Given the description of an element on the screen output the (x, y) to click on. 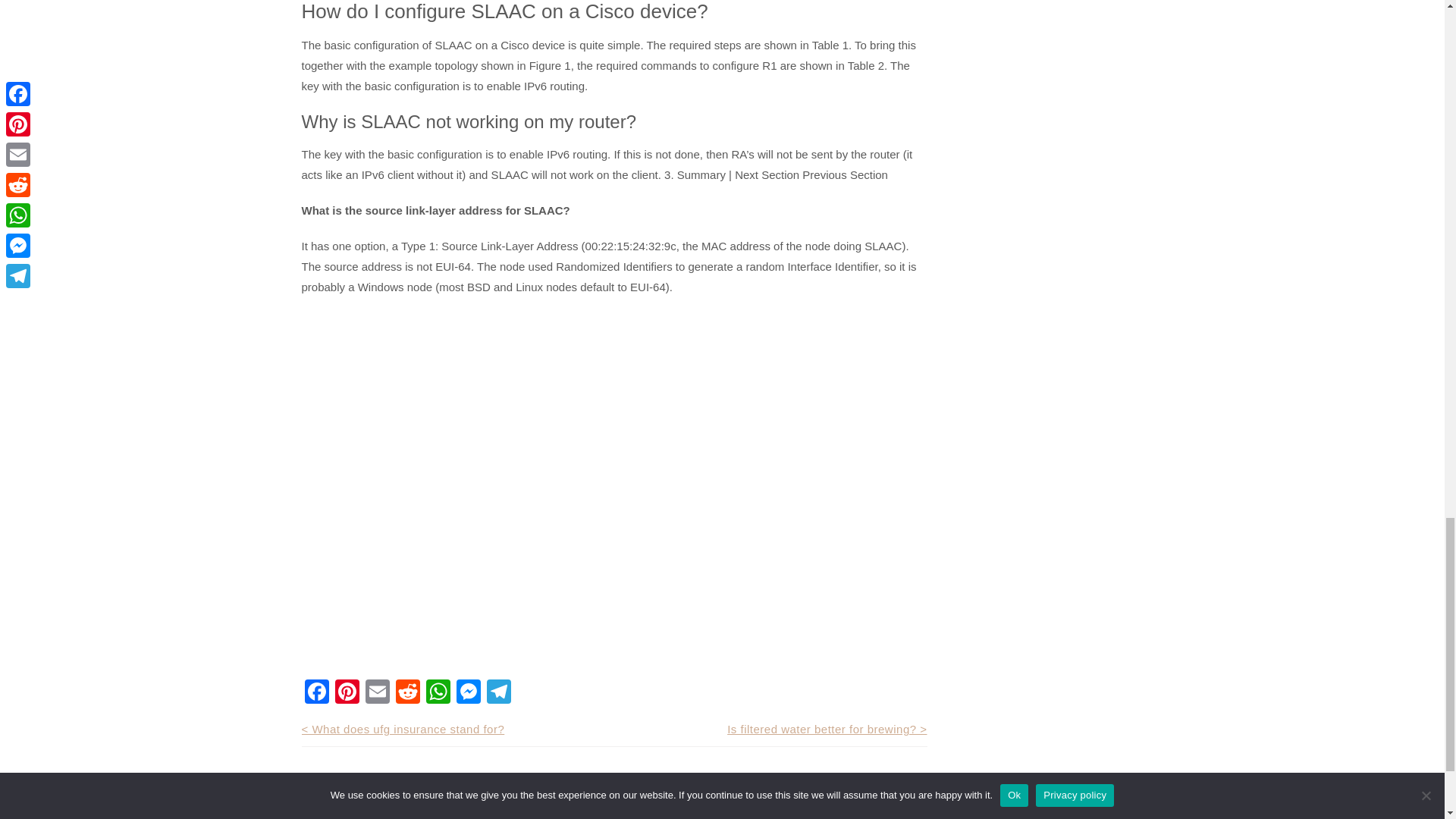
Email (377, 693)
Messenger (467, 693)
Messenger (467, 693)
Telegram (498, 693)
Reddit (408, 693)
Telegram (498, 693)
Reddit (408, 693)
WhatsApp (437, 693)
Pinterest (346, 693)
Pinterest (346, 693)
Facebook (316, 693)
WhatsApp (437, 693)
Email (377, 693)
Facebook (316, 693)
